Given the description of an element on the screen output the (x, y) to click on. 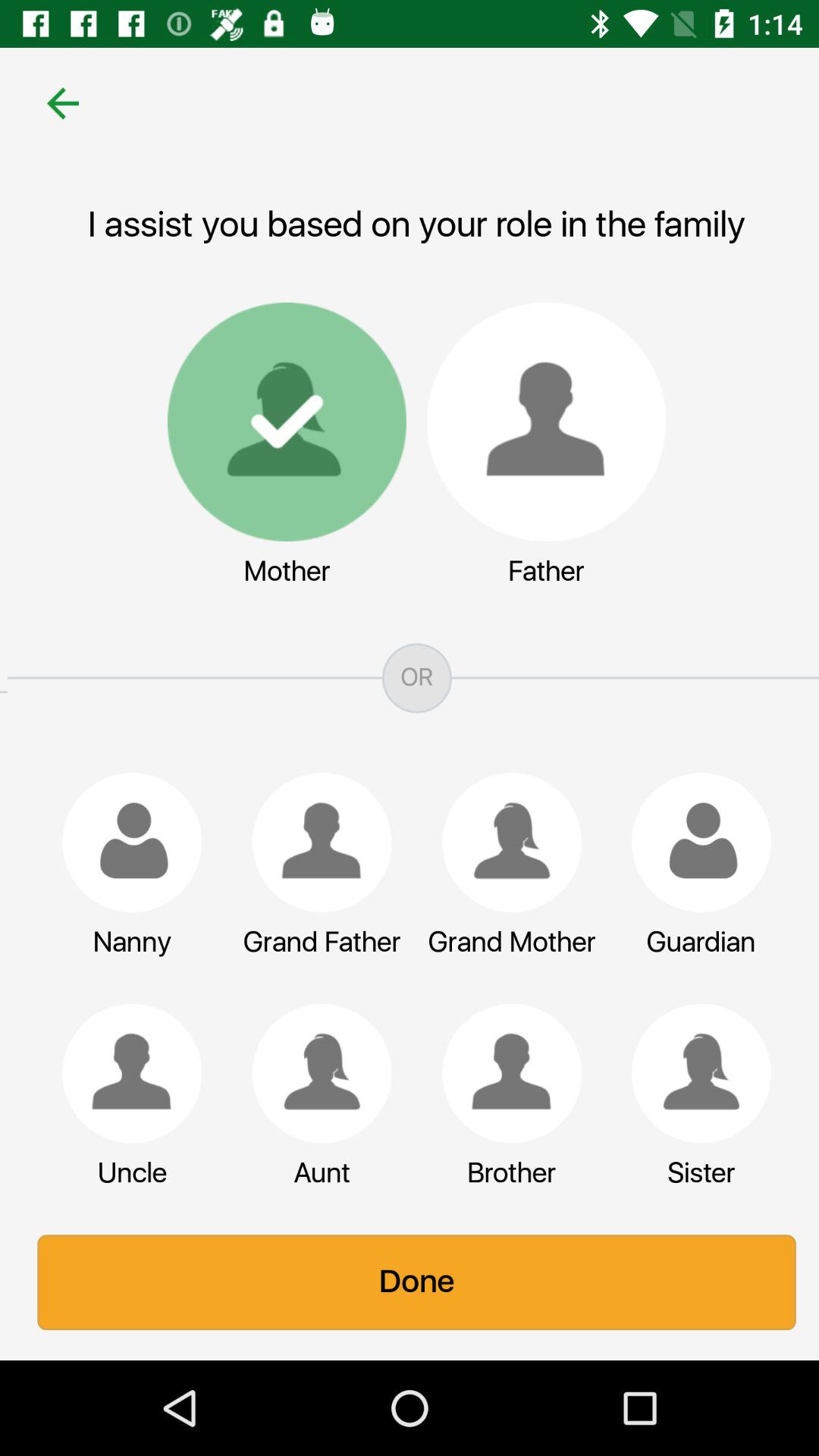
add sister (693, 1073)
